Given the description of an element on the screen output the (x, y) to click on. 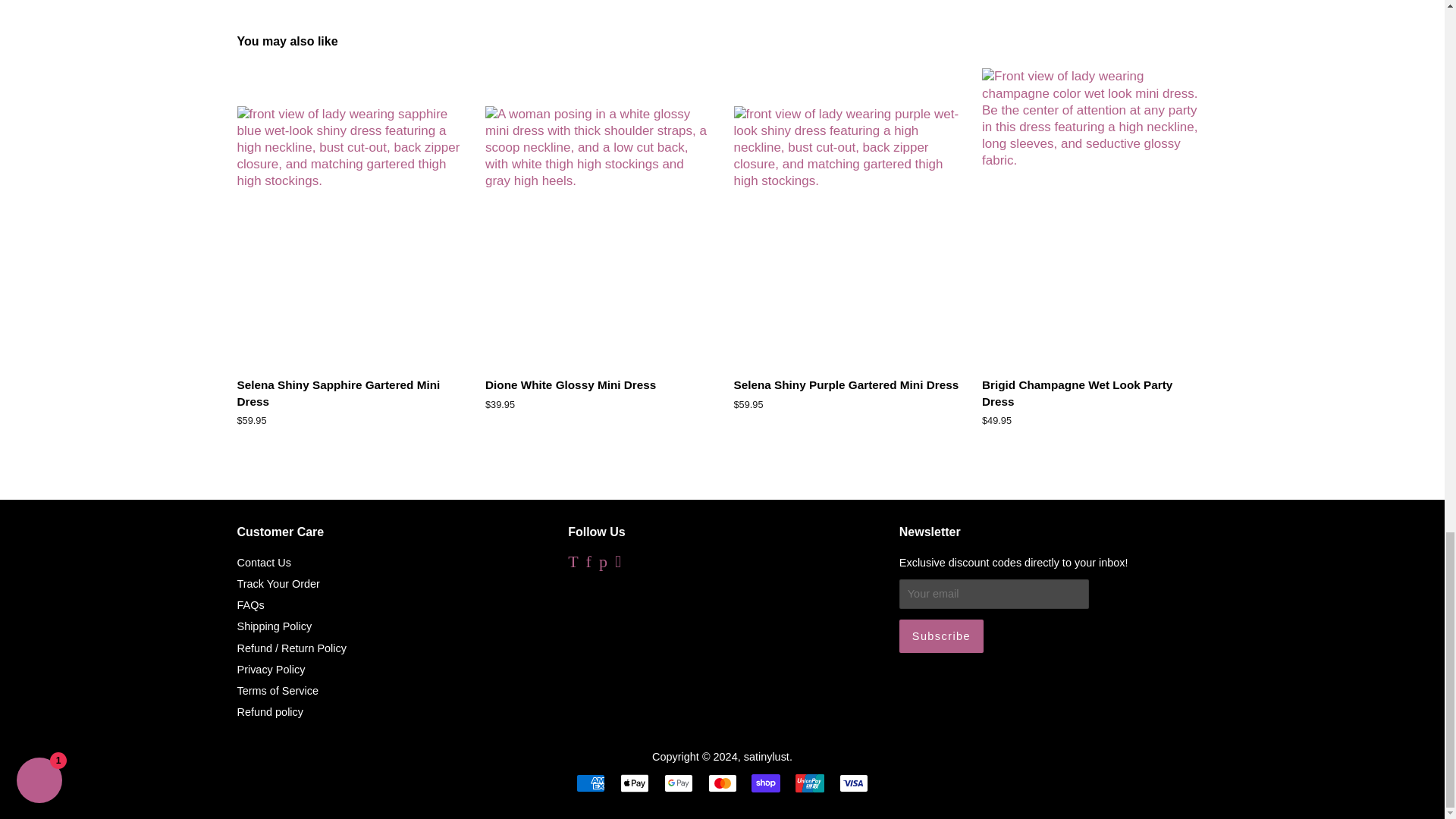
Google Pay (678, 782)
Union Pay (809, 782)
Visa (853, 782)
Apple Pay (634, 782)
Mastercard (721, 782)
American Express (590, 782)
Subscribe (941, 635)
Shop Pay (765, 782)
